Given the description of an element on the screen output the (x, y) to click on. 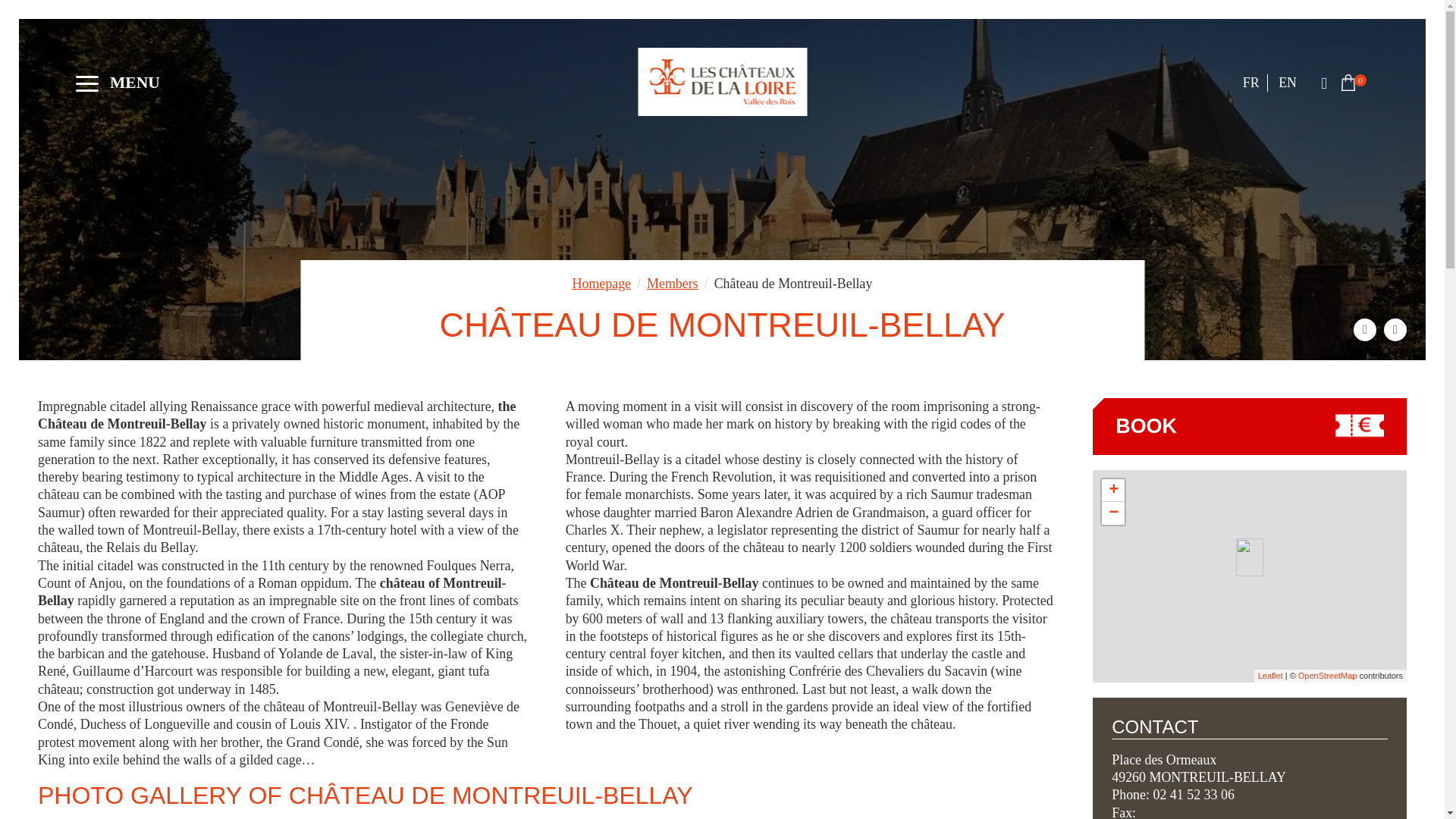
Homepage (601, 283)
Homepage (601, 283)
Zoom out (1113, 513)
Book (1249, 426)
A JS library for interactive maps (1269, 675)
French (1251, 82)
EN (1287, 82)
Members (672, 283)
English (1287, 82)
Zoom in (1113, 490)
Members (672, 283)
FR (1251, 82)
Back to Homepage (721, 81)
